Given the description of an element on the screen output the (x, y) to click on. 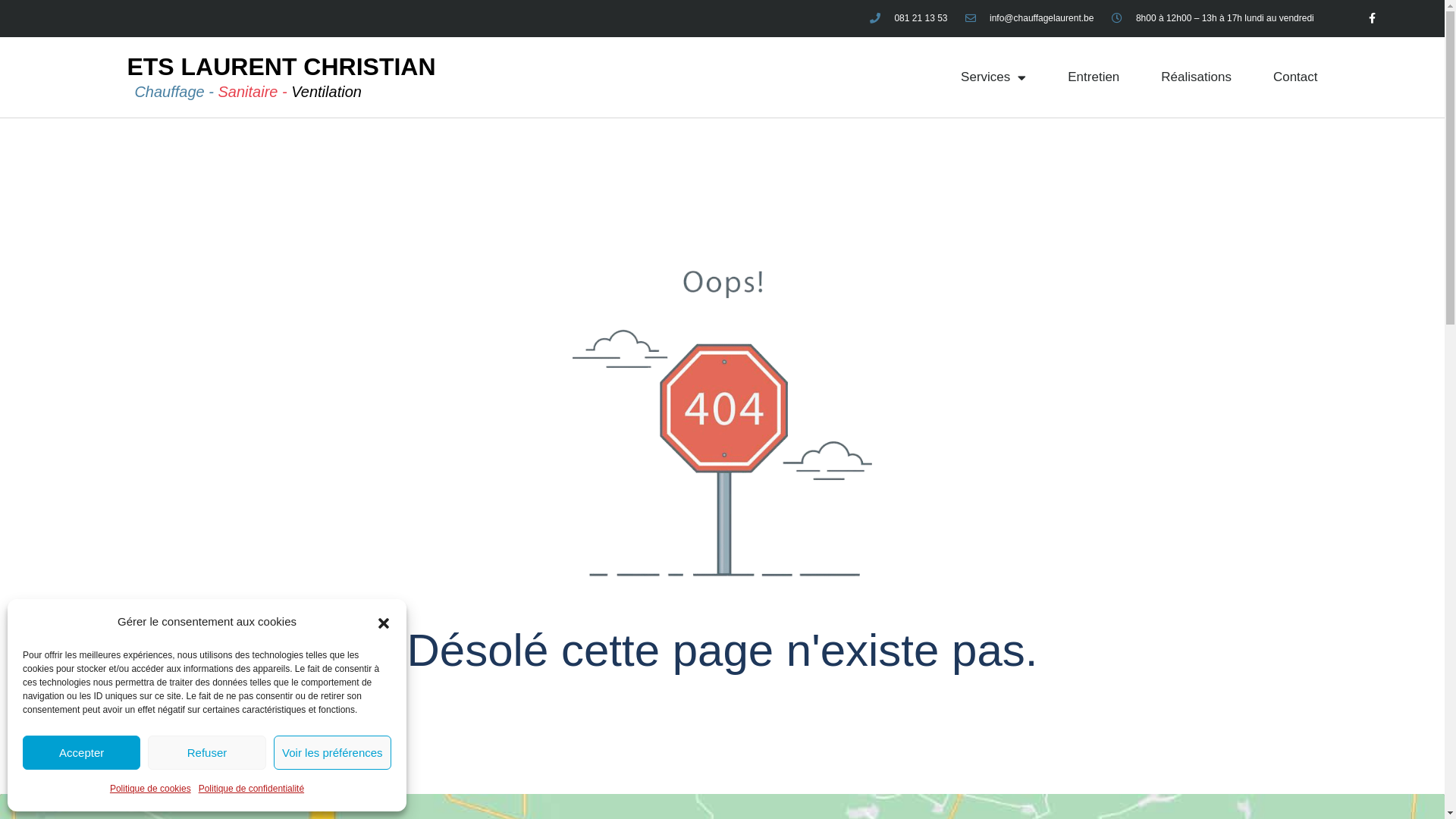
081 21 13 53 Element type: text (907, 17)
Accepter Element type: text (81, 752)
Politique de cookies Element type: text (150, 788)
Contact Element type: text (1295, 77)
Entretien Element type: text (1093, 77)
Services Element type: text (993, 77)
Refuser Element type: text (206, 752)
info@chauffagelaurent.be Element type: text (1028, 17)
